Given the description of an element on the screen output the (x, y) to click on. 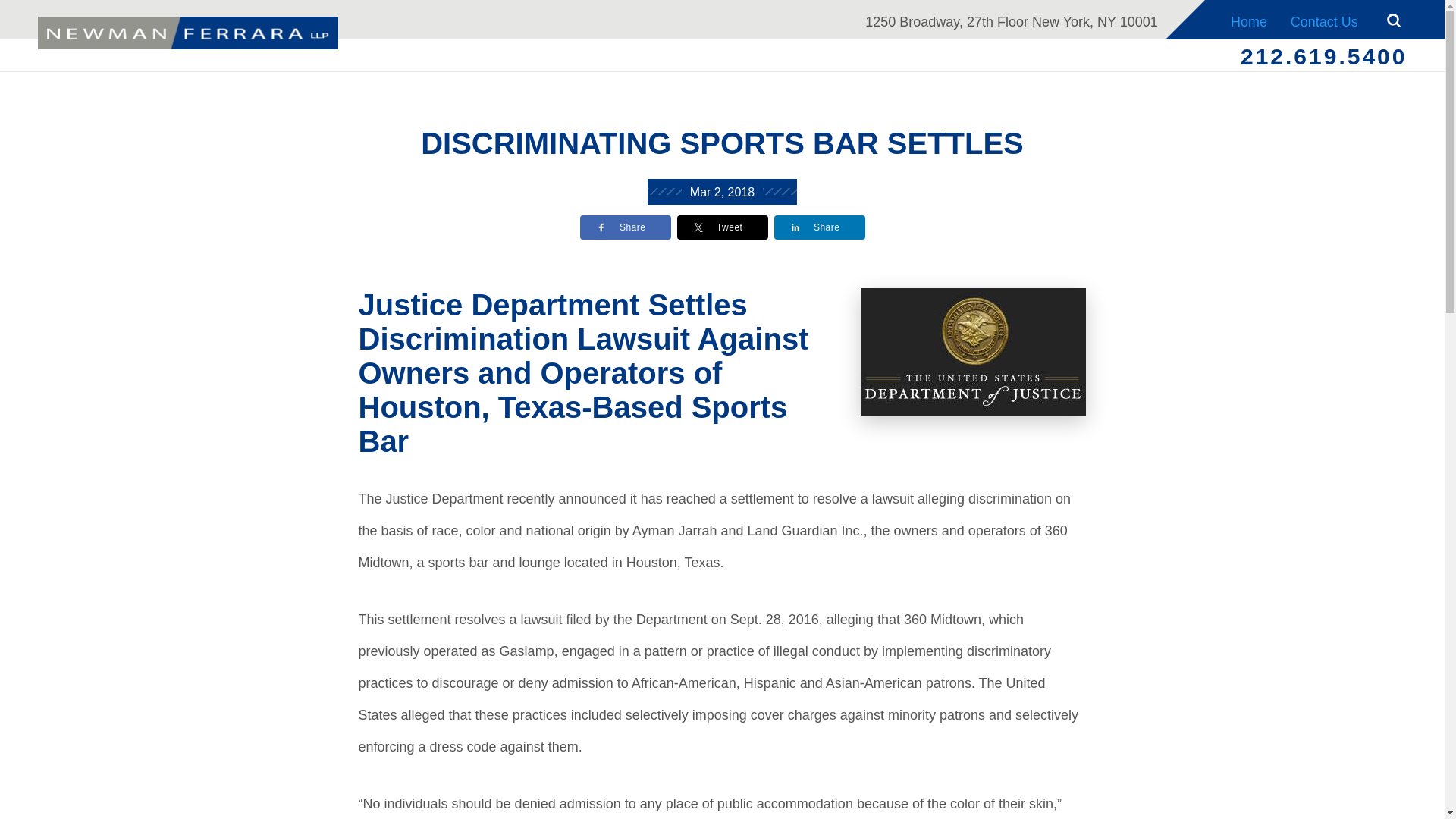
Home (1249, 19)
Newman Ferrara LLP (187, 32)
212.619.5400 (1323, 56)
Contact Us (1324, 19)
